Given the description of an element on the screen output the (x, y) to click on. 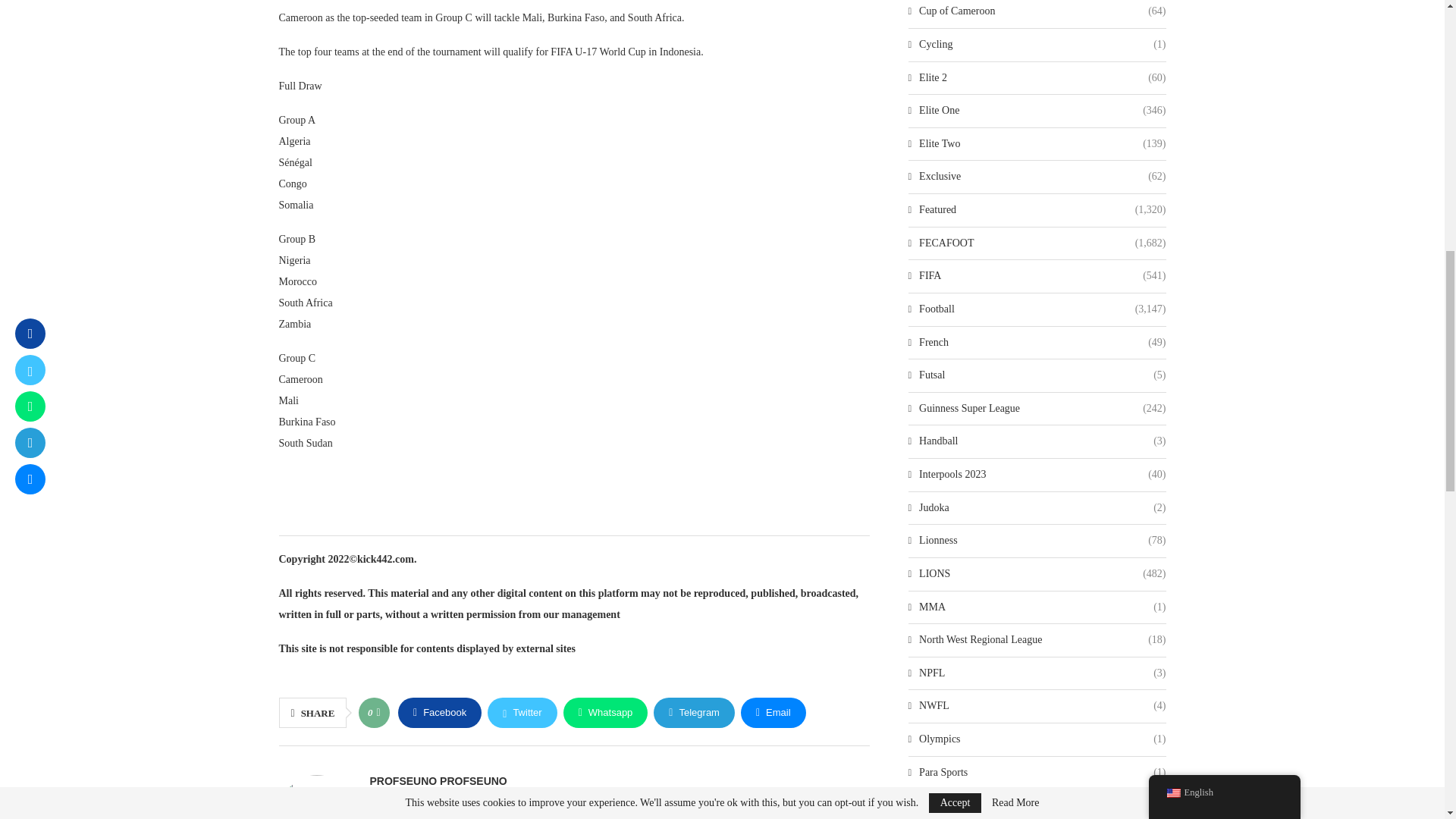
Author profseuno profseuno (437, 780)
